Given the description of an element on the screen output the (x, y) to click on. 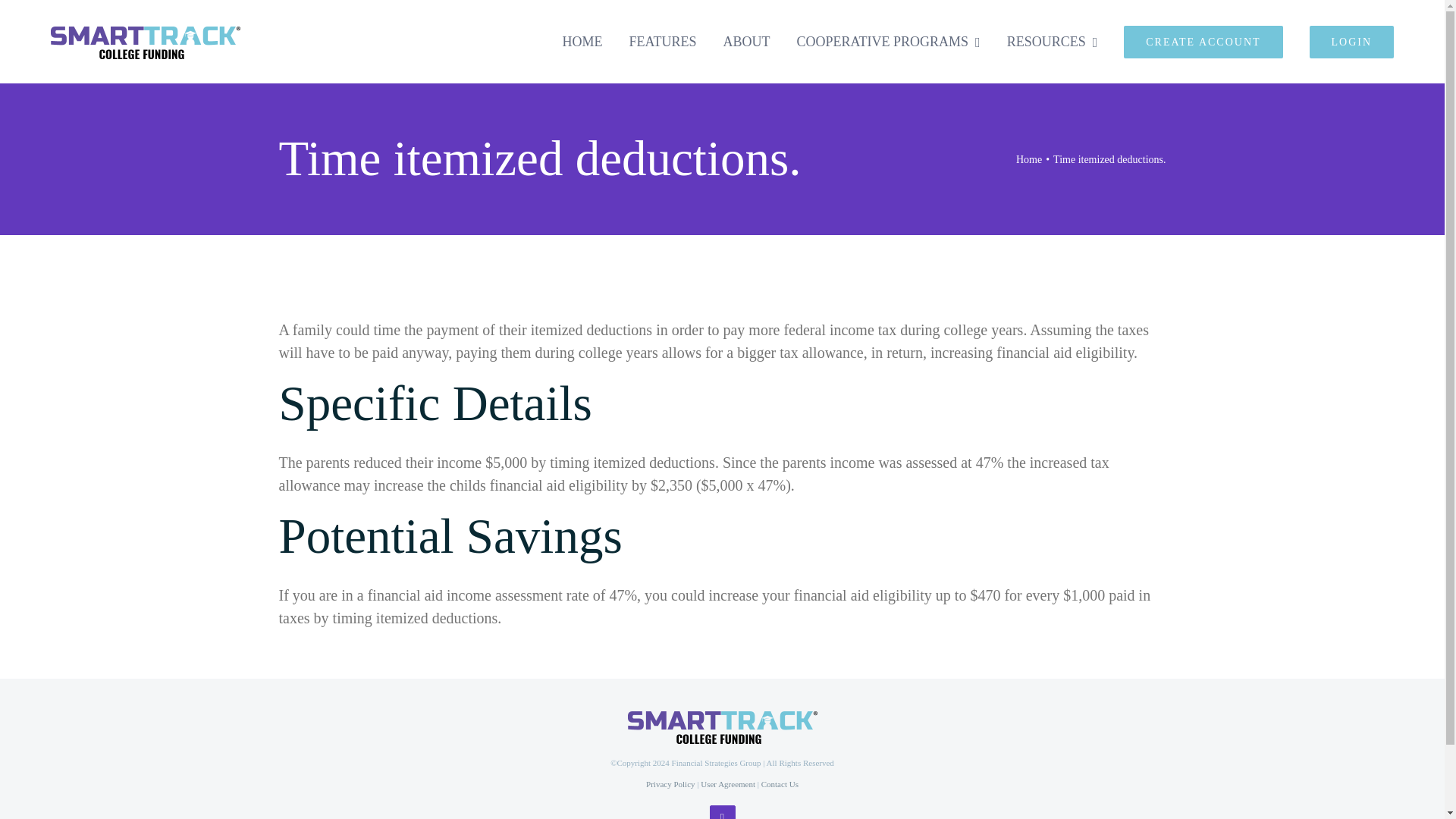
Home (1029, 158)
FEATURES (662, 41)
LOGIN (1351, 41)
Facebook (722, 812)
Facebook (722, 812)
RESOURCES (1052, 41)
User Agreement (727, 783)
CREATE ACCOUNT (1203, 41)
COOPERATIVE PROGRAMS (887, 41)
Privacy Policy (670, 783)
